Given the description of an element on the screen output the (x, y) to click on. 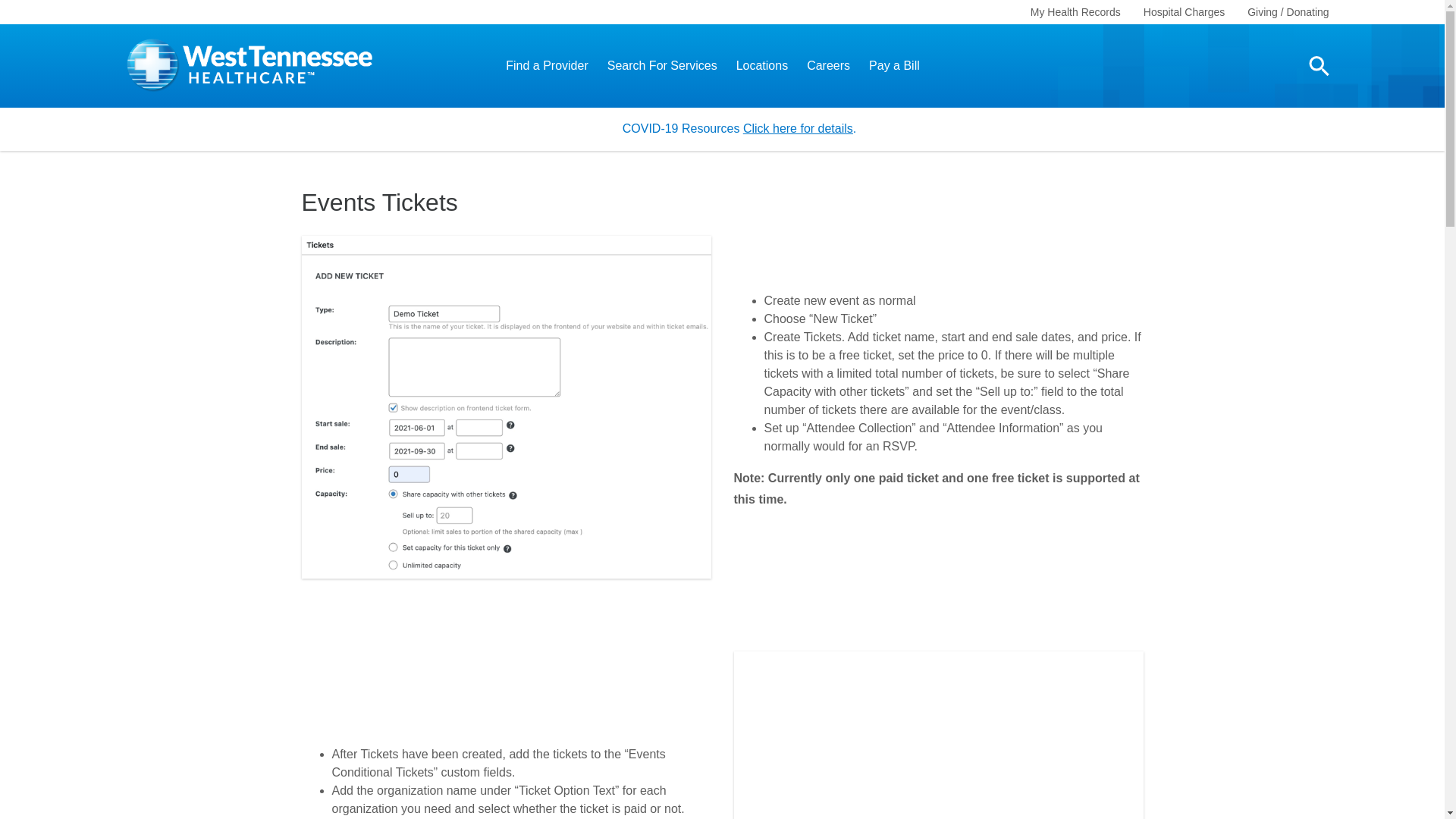
Hospital Charges (1183, 11)
My Health Records (1075, 11)
Search For Services (662, 65)
Click here for details (797, 128)
Find a Provider (546, 65)
Careers (828, 65)
Pay a Bill (894, 65)
Locations (762, 65)
